Given the description of an element on the screen output the (x, y) to click on. 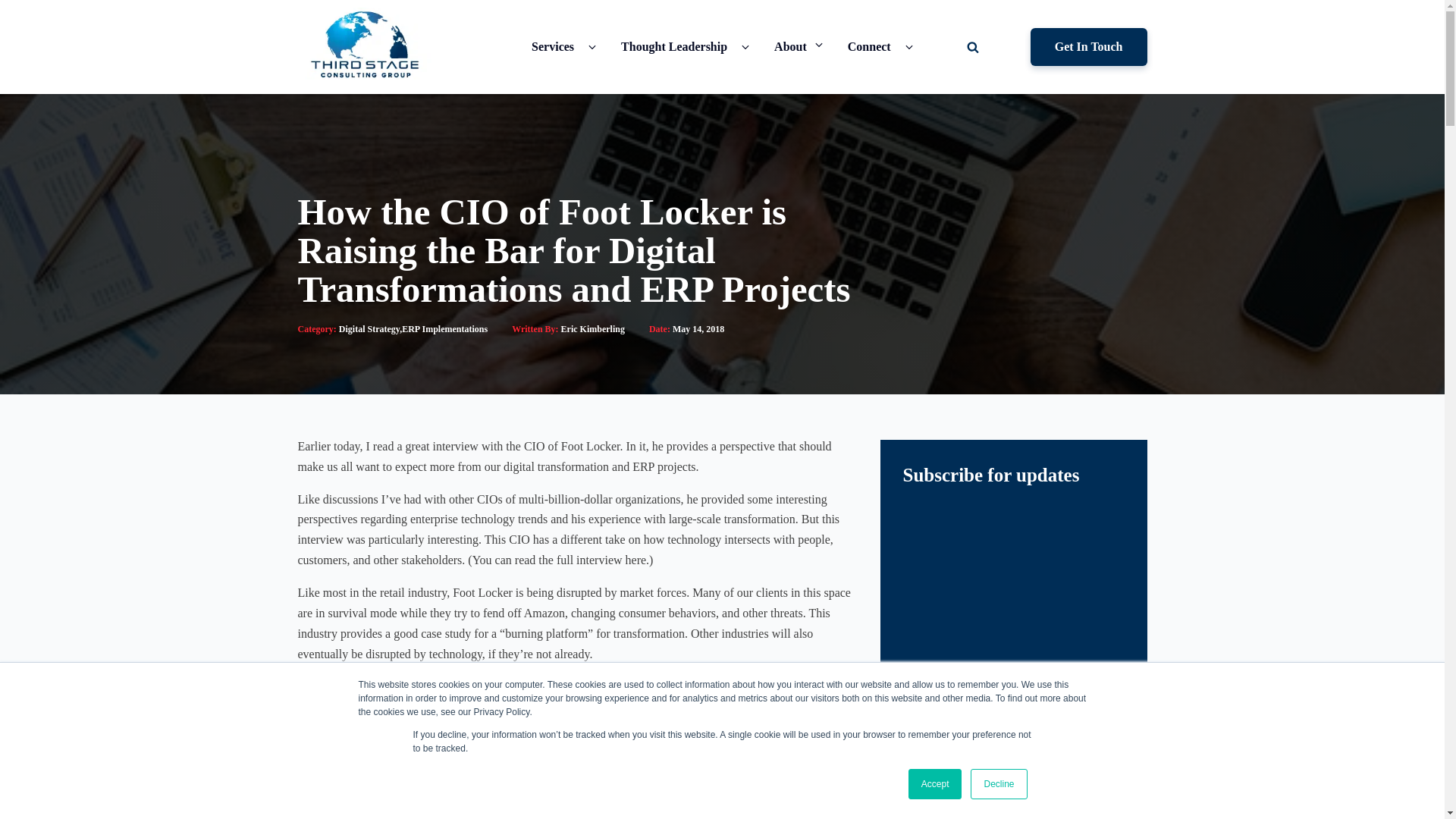
Services (552, 46)
About (790, 46)
The importance of a solid digital strategy and roadmap (450, 809)
Decline (998, 784)
Incorporate technology trends into real life (419, 791)
Form 0 (1013, 590)
Connect (869, 46)
Accept (935, 784)
Thought Leadership (673, 46)
